Given the description of an element on the screen output the (x, y) to click on. 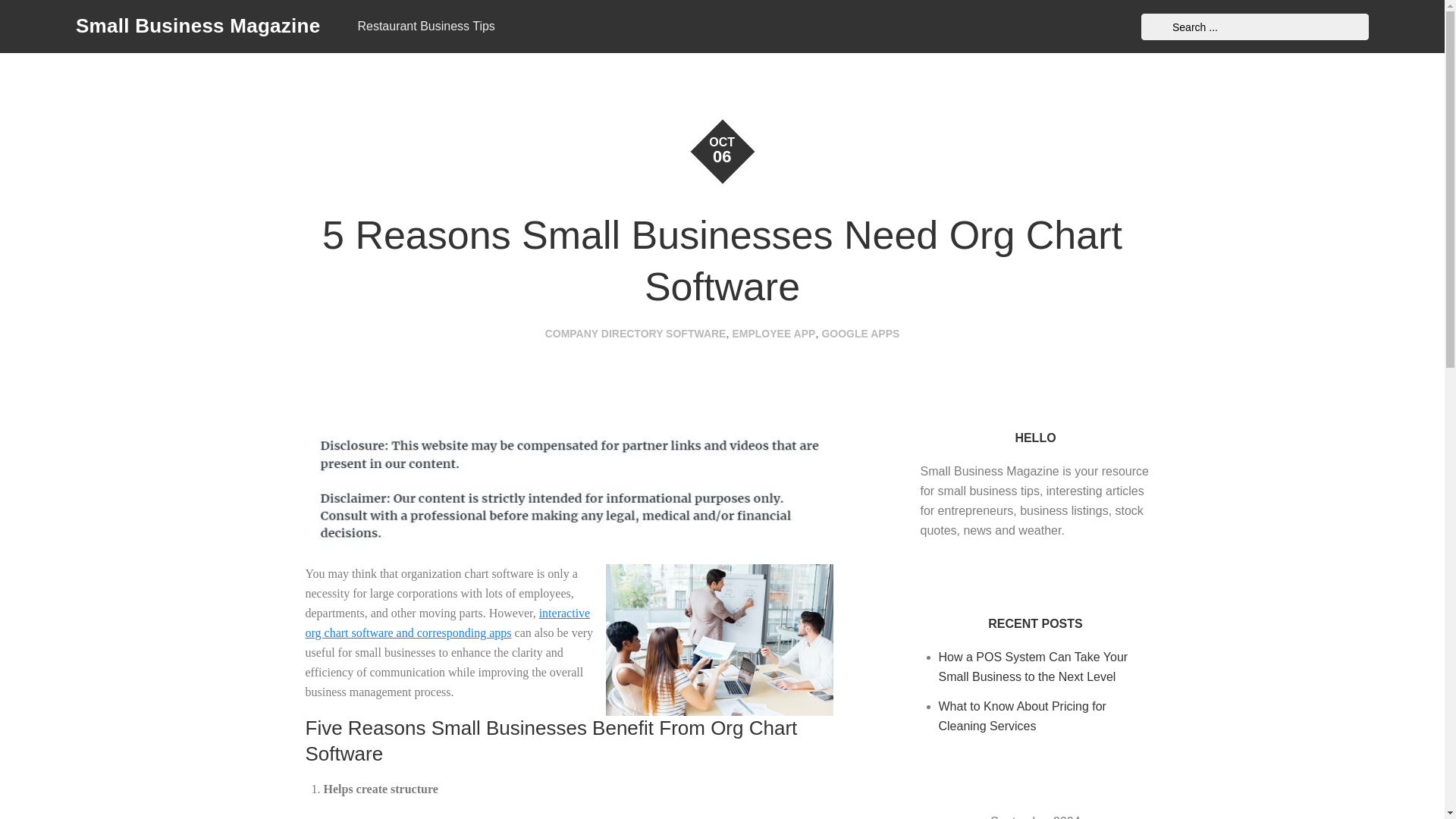
GOOGLE APPS (860, 333)
Company address book, Organization chart software (446, 622)
Search (1156, 26)
What to Know About Pricing for Cleaning Services (1022, 716)
COMPANY DIRECTORY SOFTWARE (635, 333)
interactive org chart software and corresponding apps (446, 622)
EMPLOYEE APP (773, 333)
Restaurant Business Tips (425, 26)
Small Business Magazine (197, 25)
